Given the description of an element on the screen output the (x, y) to click on. 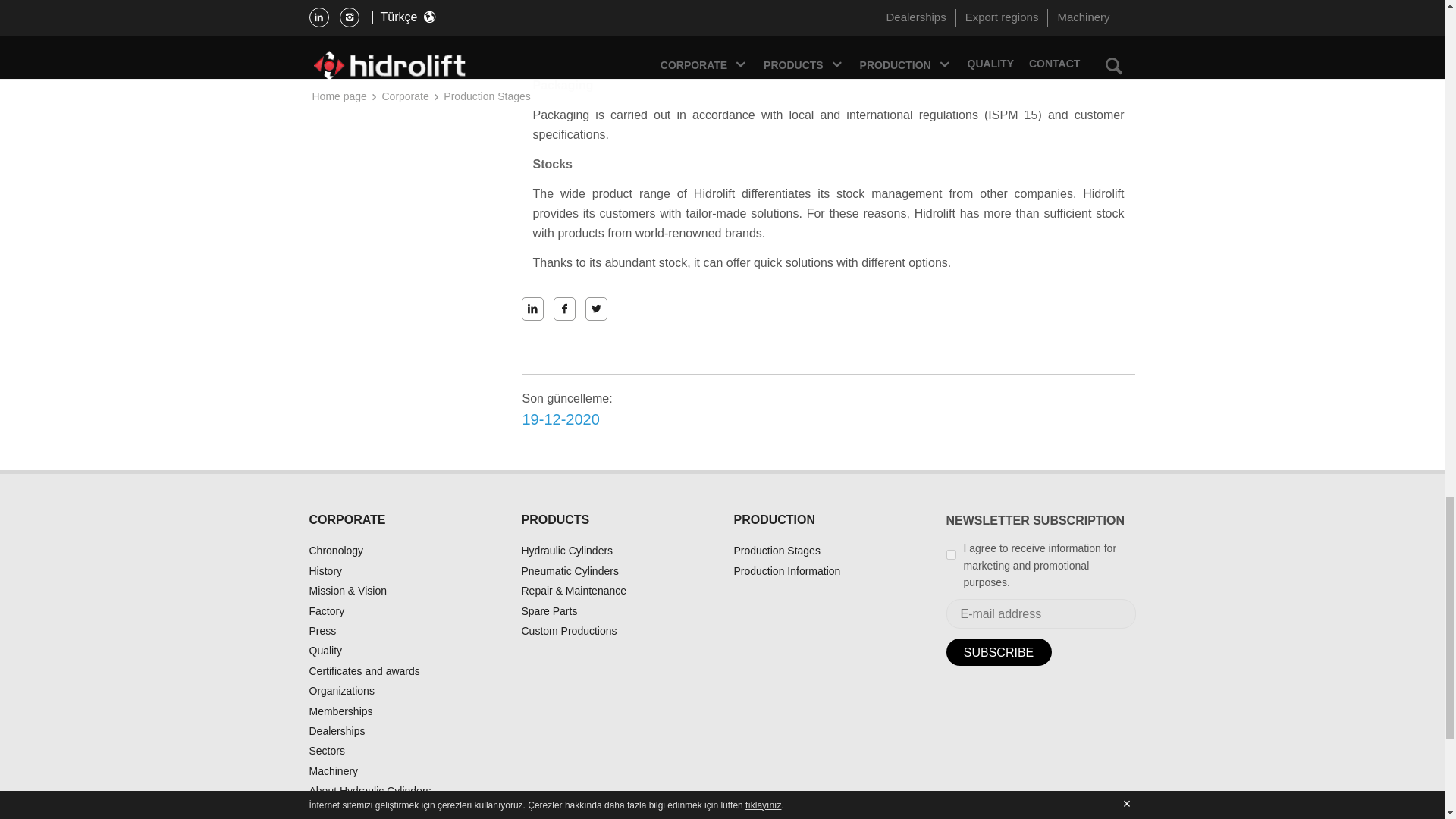
1 (951, 554)
